Given the description of an element on the screen output the (x, y) to click on. 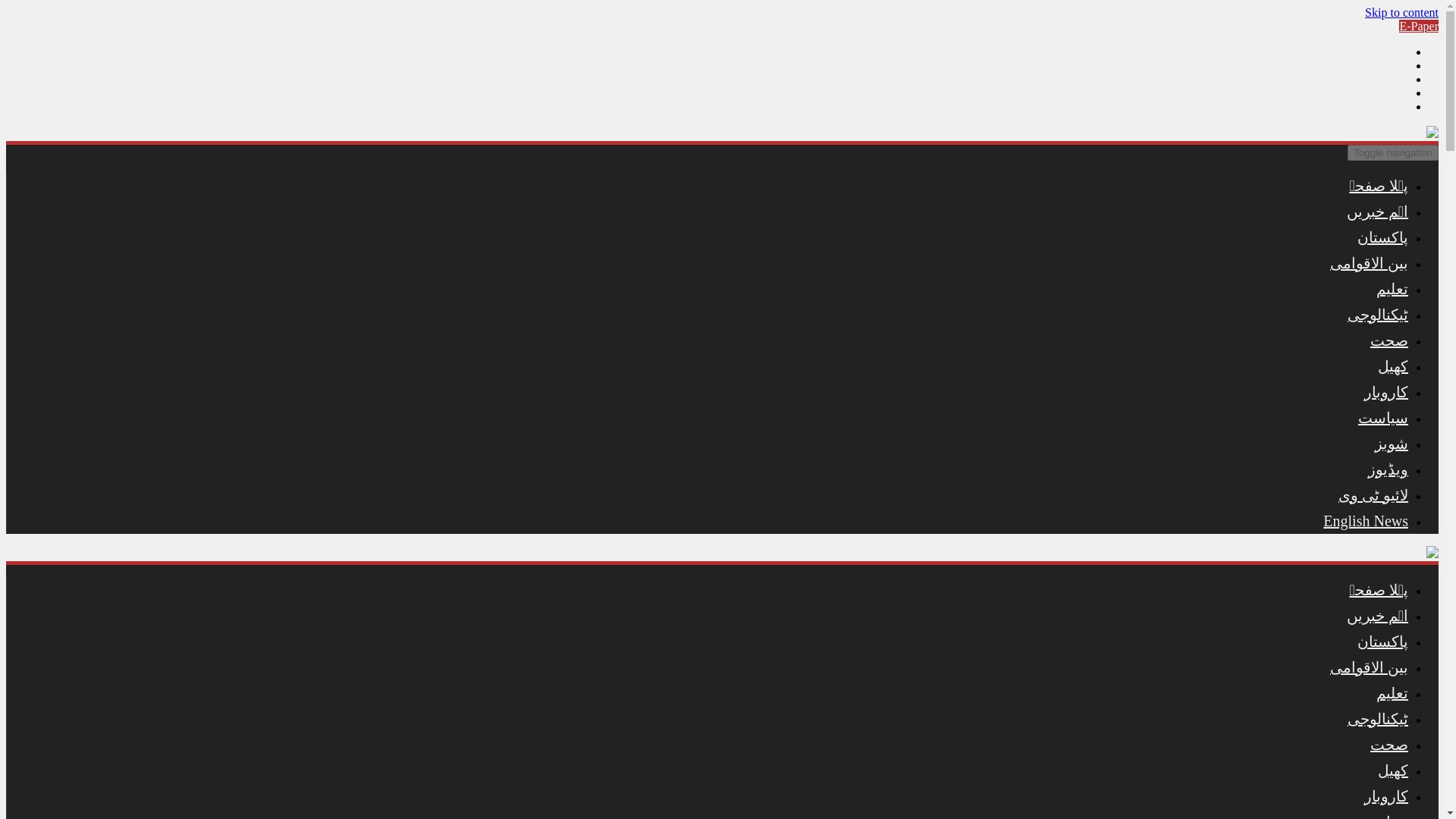
English News (1365, 520)
